Given the description of an element on the screen output the (x, y) to click on. 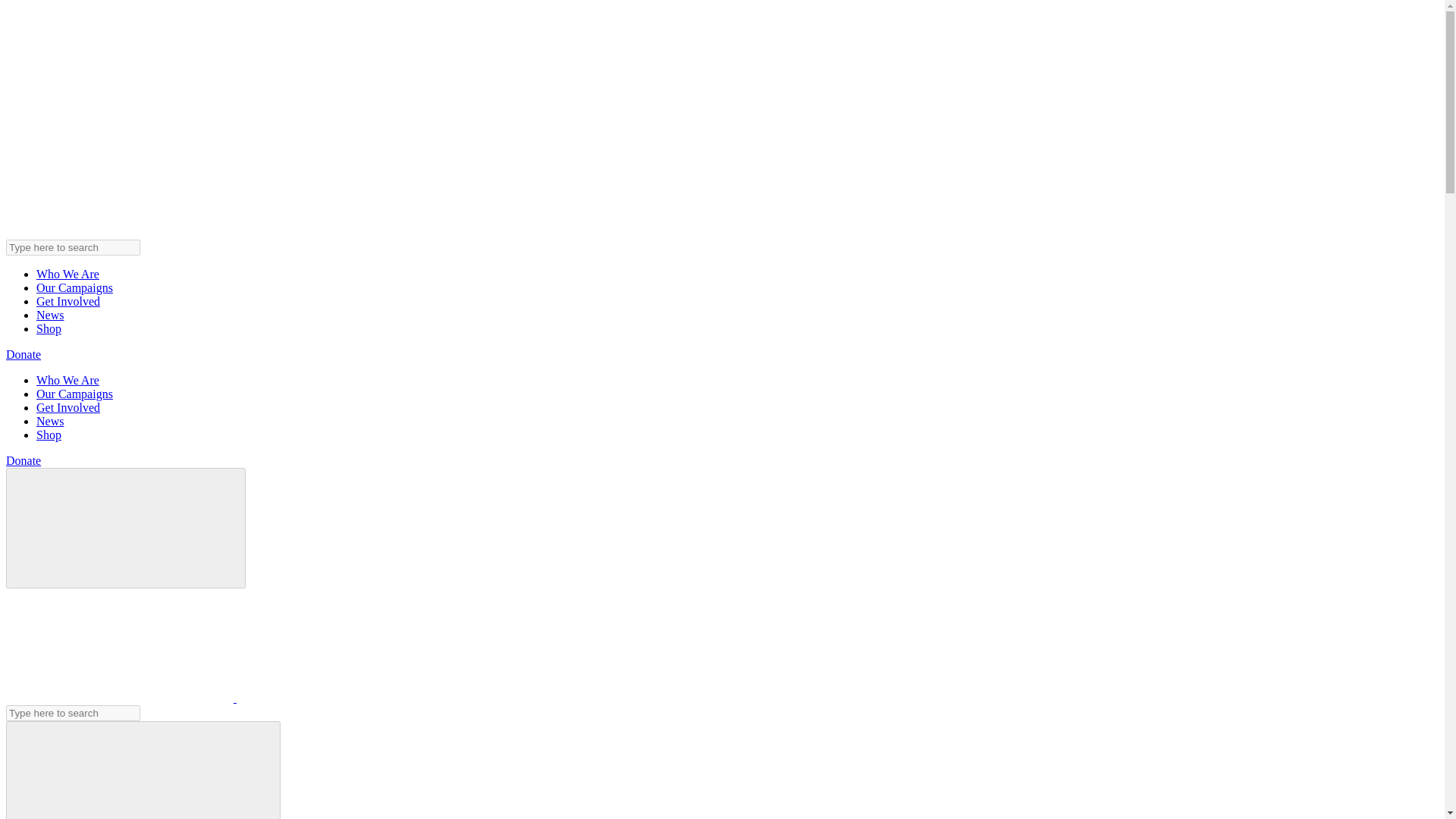
Donate (22, 354)
Search (143, 770)
Get Involved (68, 407)
Shop (48, 328)
Shop (48, 434)
Our Campaigns (74, 393)
Donate (22, 460)
News (50, 420)
Who We Are (67, 379)
Our Campaigns (74, 287)
Who We Are (67, 273)
News (50, 314)
Get Involved (68, 300)
